Given the description of an element on the screen output the (x, y) to click on. 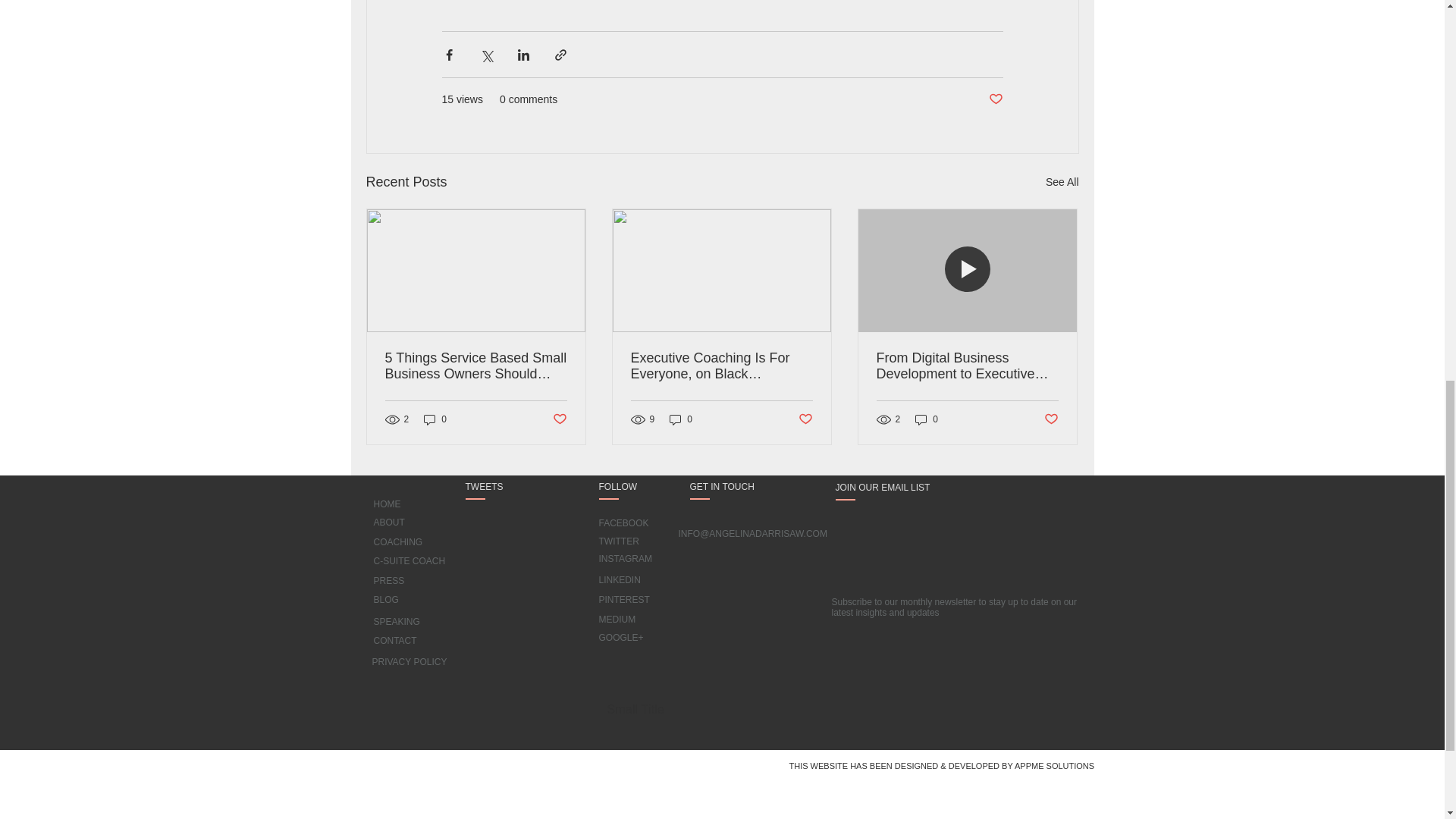
FOLLOW (630, 486)
See All (1061, 182)
From Digital Business Development to Executive Coaching CEO (967, 366)
Executive Coaching Is For Everyone, on Black Enterprise (721, 366)
TWEETS (494, 486)
Post not marked as liked (558, 418)
0 (681, 419)
HOME (386, 504)
Post not marked as liked (804, 418)
